Given the description of an element on the screen output the (x, y) to click on. 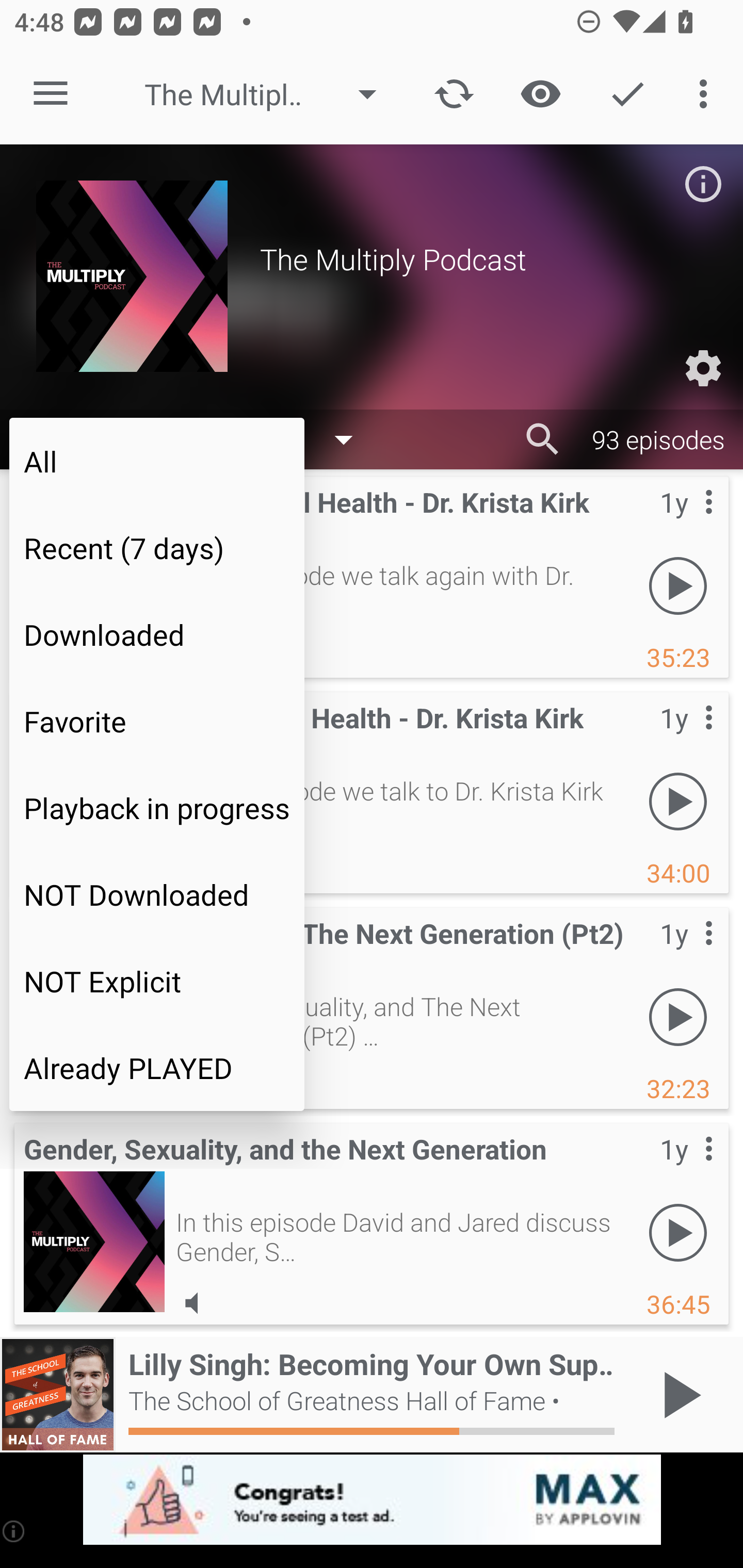
All (156, 460)
Recent (7 days) (156, 547)
Downloaded (156, 634)
Favorite (156, 721)
Playback in progress (156, 808)
NOT Downloaded (156, 894)
NOT Explicit (156, 980)
Already PLAYED (156, 1067)
